Given the description of an element on the screen output the (x, y) to click on. 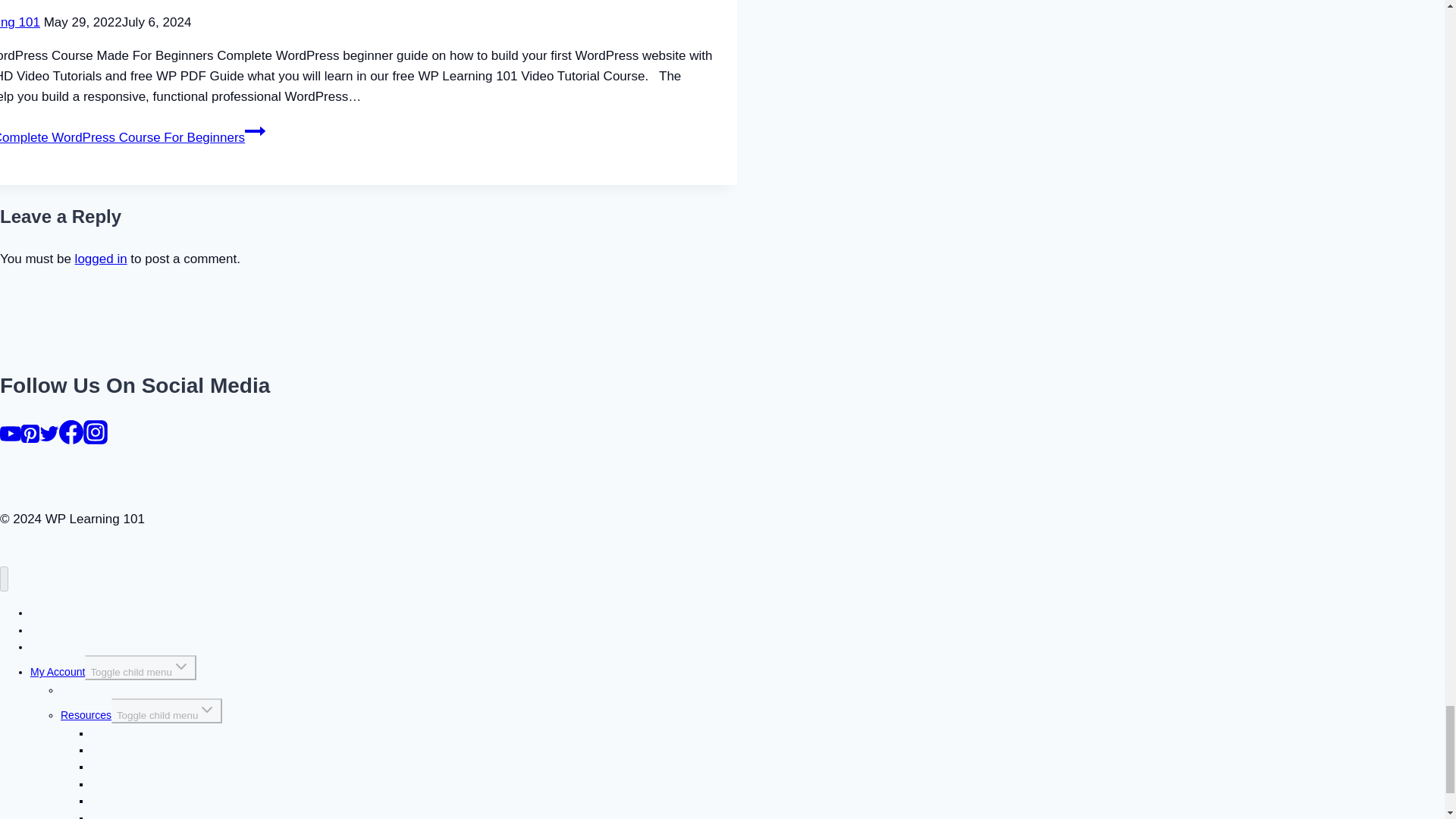
Instagram (94, 432)
Continue (254, 130)
Twitter (49, 433)
Expand (206, 710)
Expand (180, 666)
Facebook (70, 432)
YouTube (10, 433)
